Given the description of an element on the screen output the (x, y) to click on. 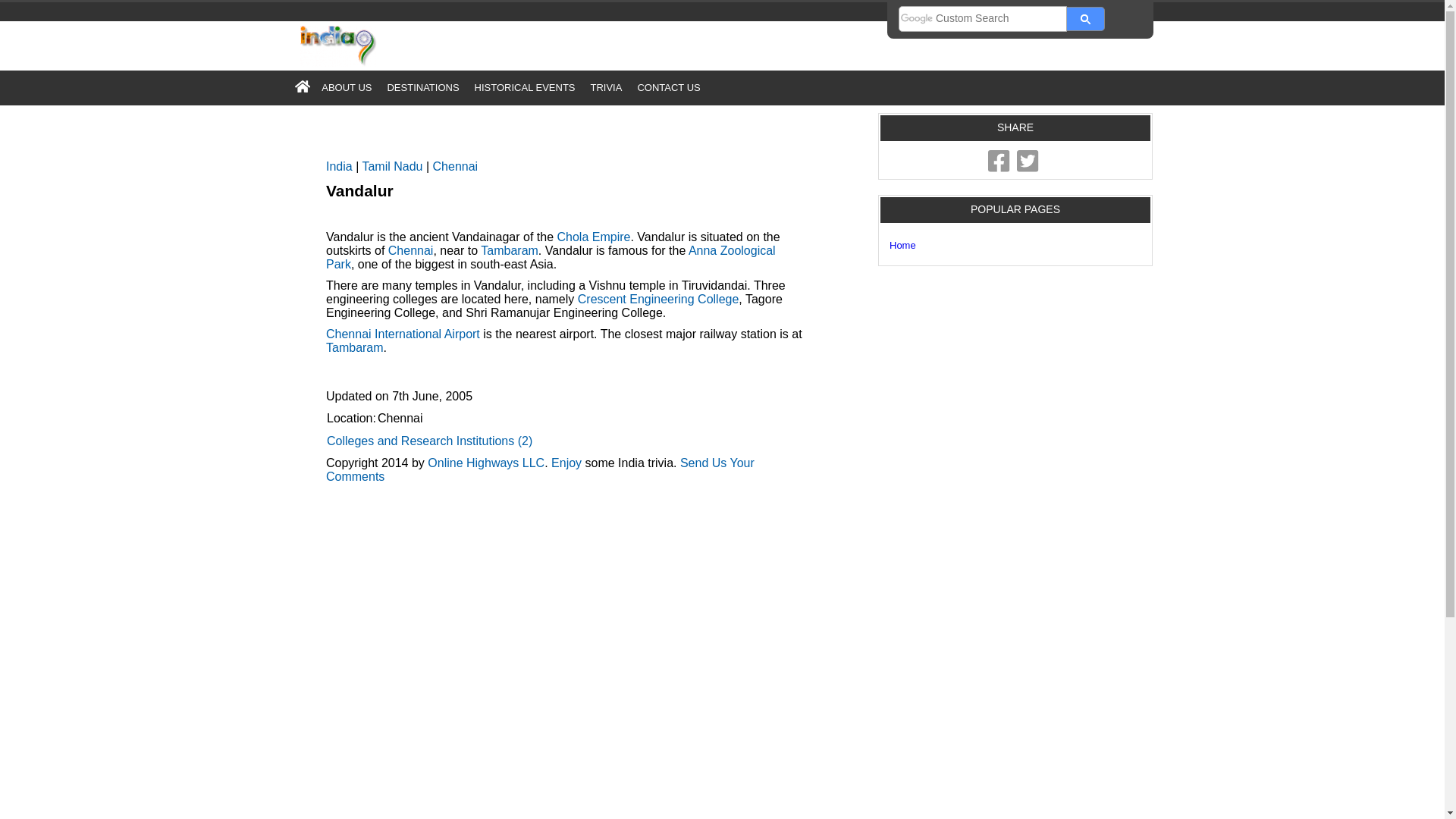
DESTINATIONS (421, 87)
Tamil Nadu (391, 165)
CONTACT US (667, 87)
search (982, 18)
State (391, 165)
Crescent Engineering College (658, 298)
Chola Empire (593, 236)
Chennai International Airport (403, 333)
TRIVIA (605, 87)
India (339, 165)
